Given the description of an element on the screen output the (x, y) to click on. 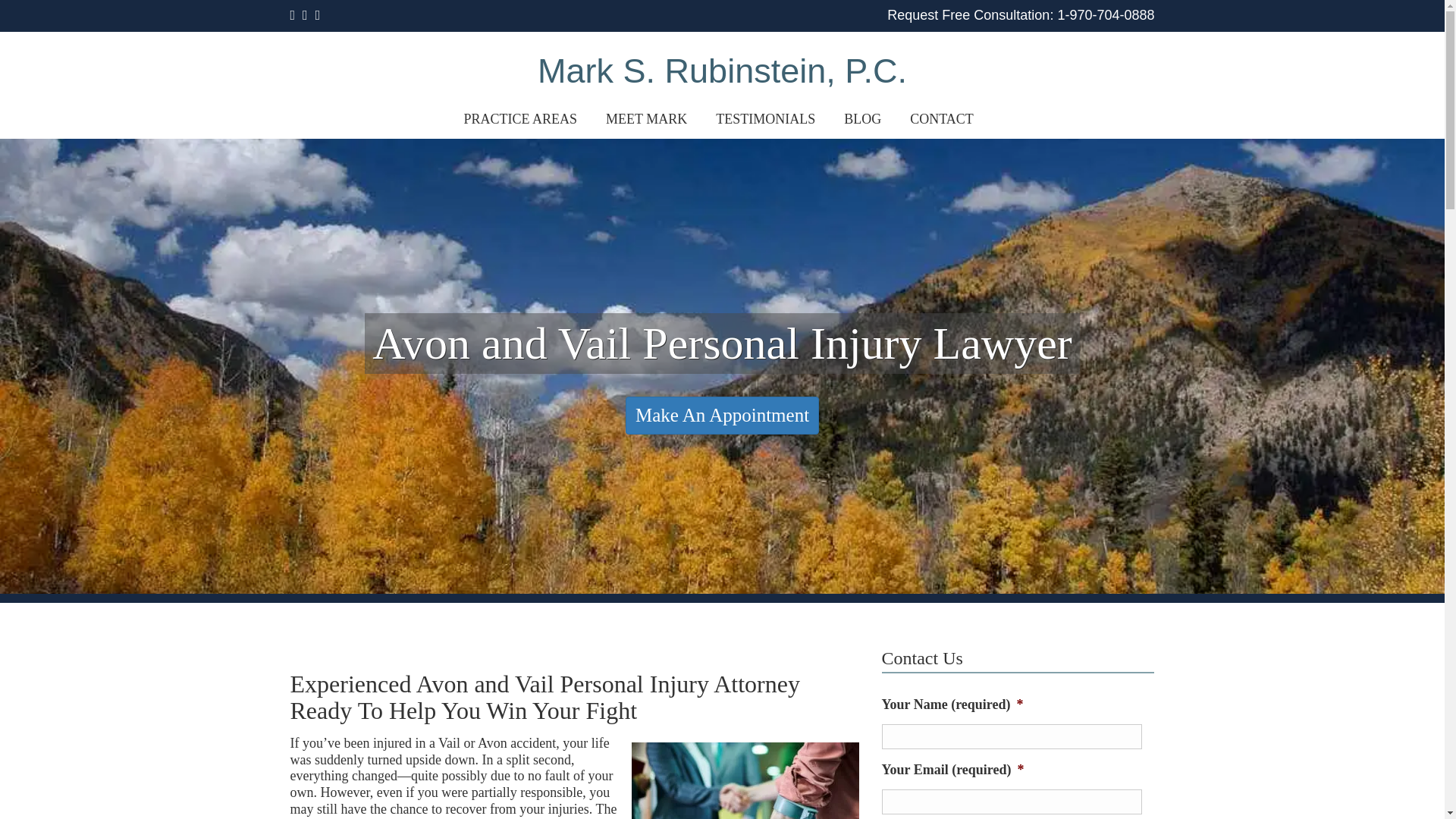
Mark S. Rubinstein, P.C. (721, 65)
PRACTICE AREAS (521, 119)
CONTACT (942, 119)
BLOG (862, 119)
Make An Appointment (722, 415)
TESTIMONIALS (765, 119)
MEET MARK (646, 119)
